Given the description of an element on the screen output the (x, y) to click on. 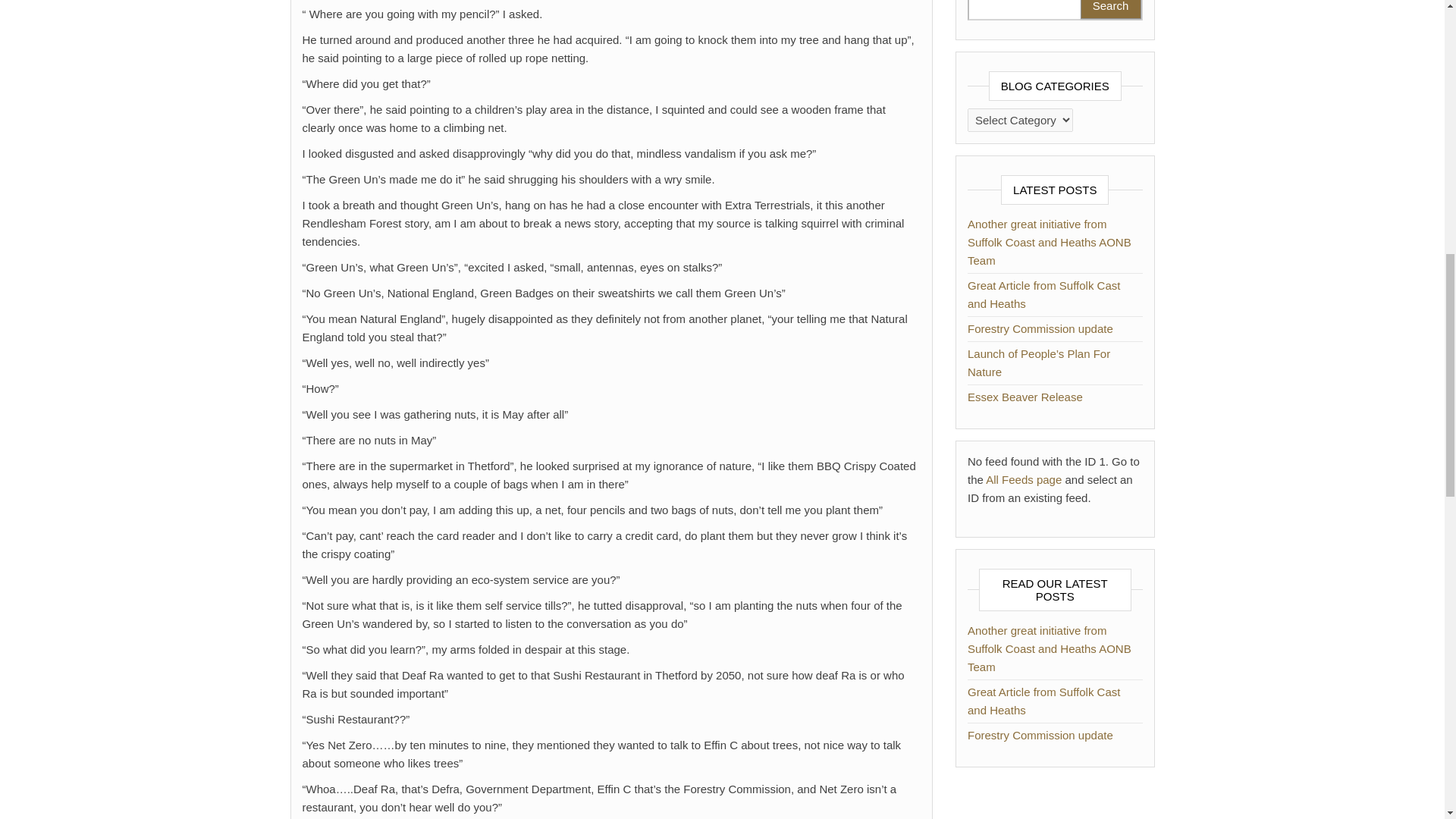
Great Article from Suffolk Cast and Heaths (1043, 294)
Search (1110, 9)
Forestry Commission update (1040, 328)
All Feeds page (1023, 479)
Search (1110, 9)
Great Article from Suffolk Cast and Heaths (1043, 700)
Essex Beaver Release (1025, 396)
